Given the description of an element on the screen output the (x, y) to click on. 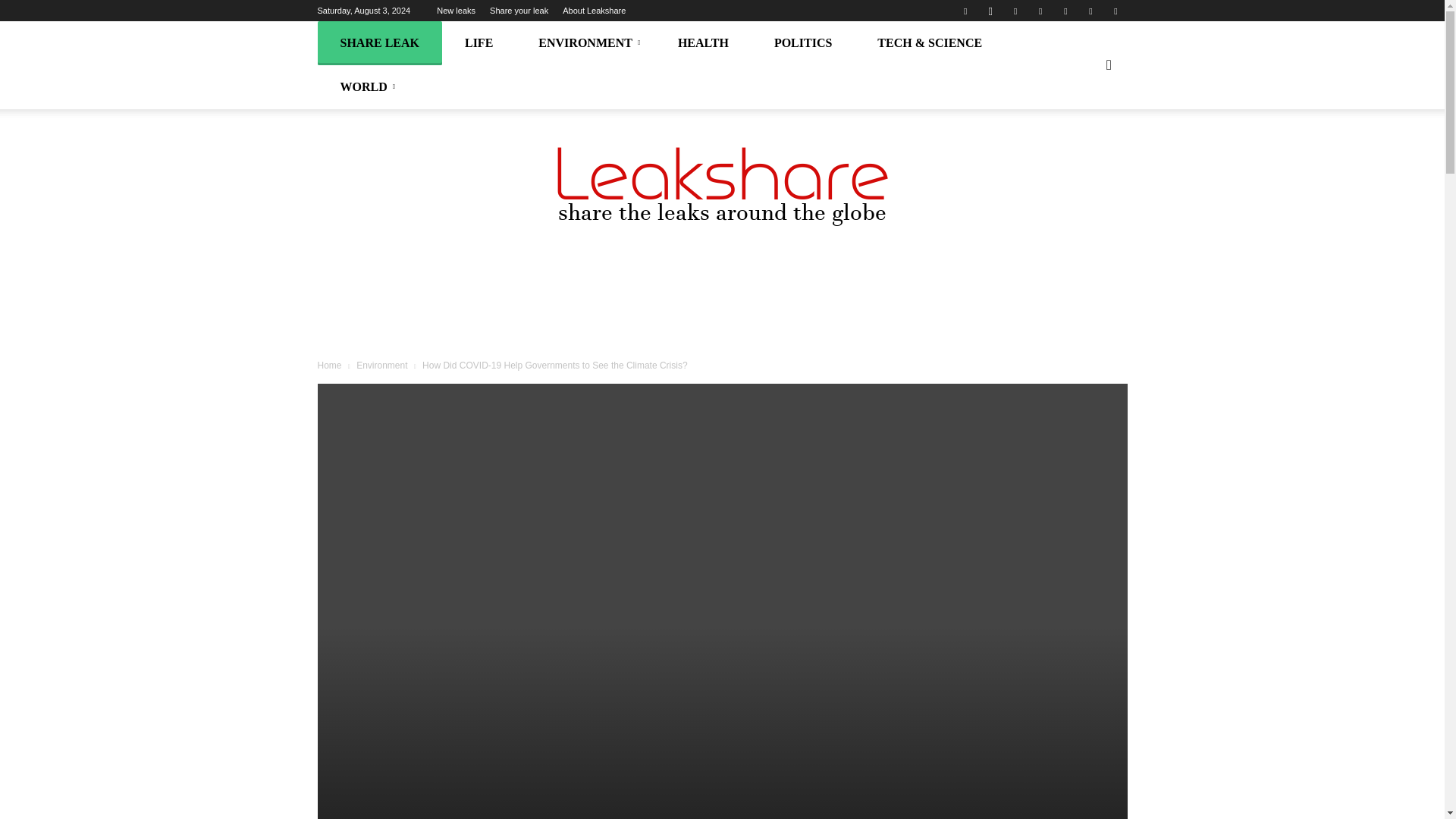
Tumblr (1065, 10)
Instagram (989, 10)
Twitter (1090, 10)
Facebook (964, 10)
Youtube (1114, 10)
About Leakshare (594, 10)
New leaks (456, 10)
Linkedin (1015, 10)
ENVIRONMENT (585, 43)
Share your leak (518, 10)
View all posts in Environment (383, 365)
Pinterest (1040, 10)
LIFE (478, 43)
SHARE LEAK (379, 43)
